Given the description of an element on the screen output the (x, y) to click on. 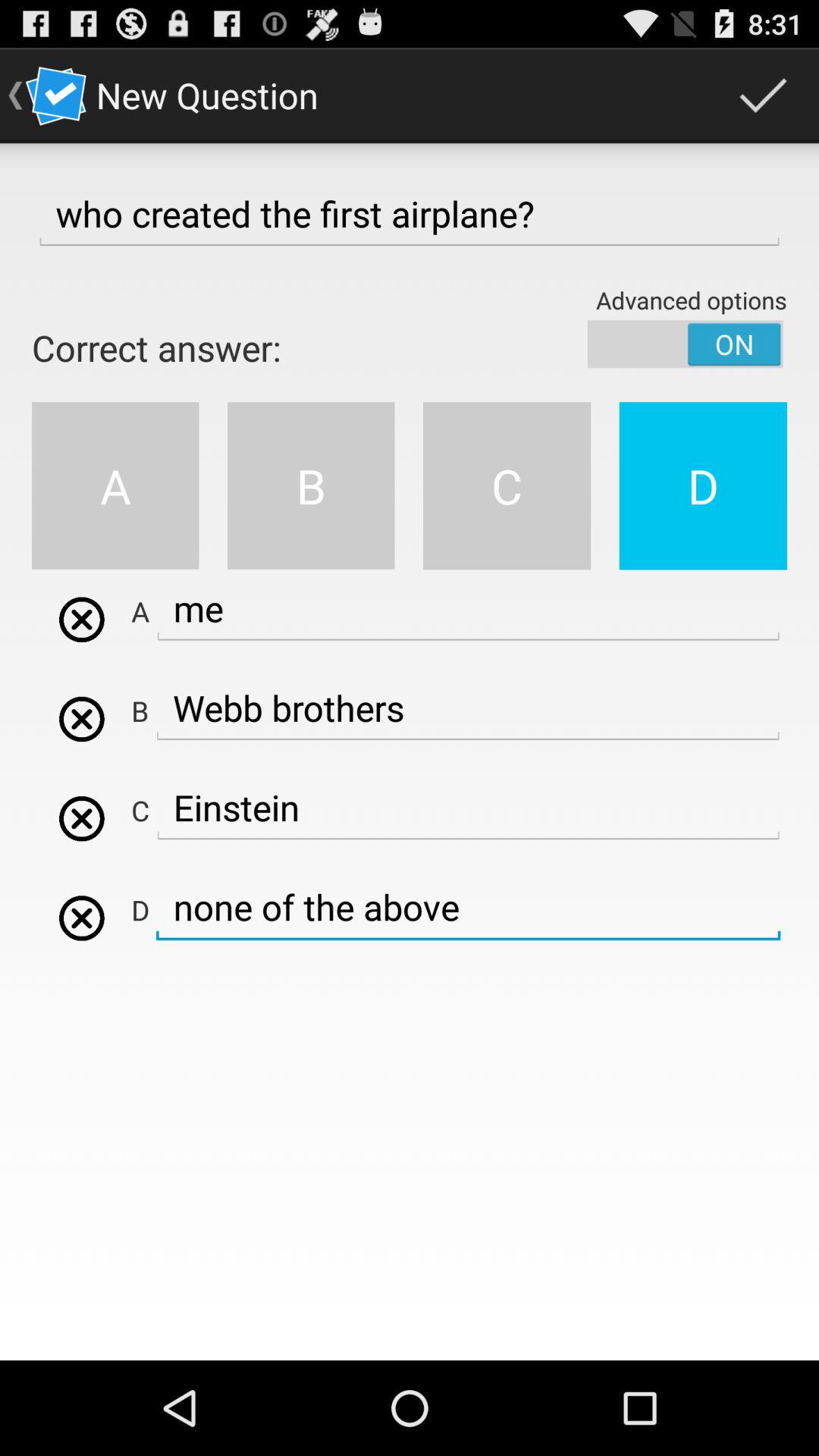
remove the options b (81, 718)
